Given the description of an element on the screen output the (x, y) to click on. 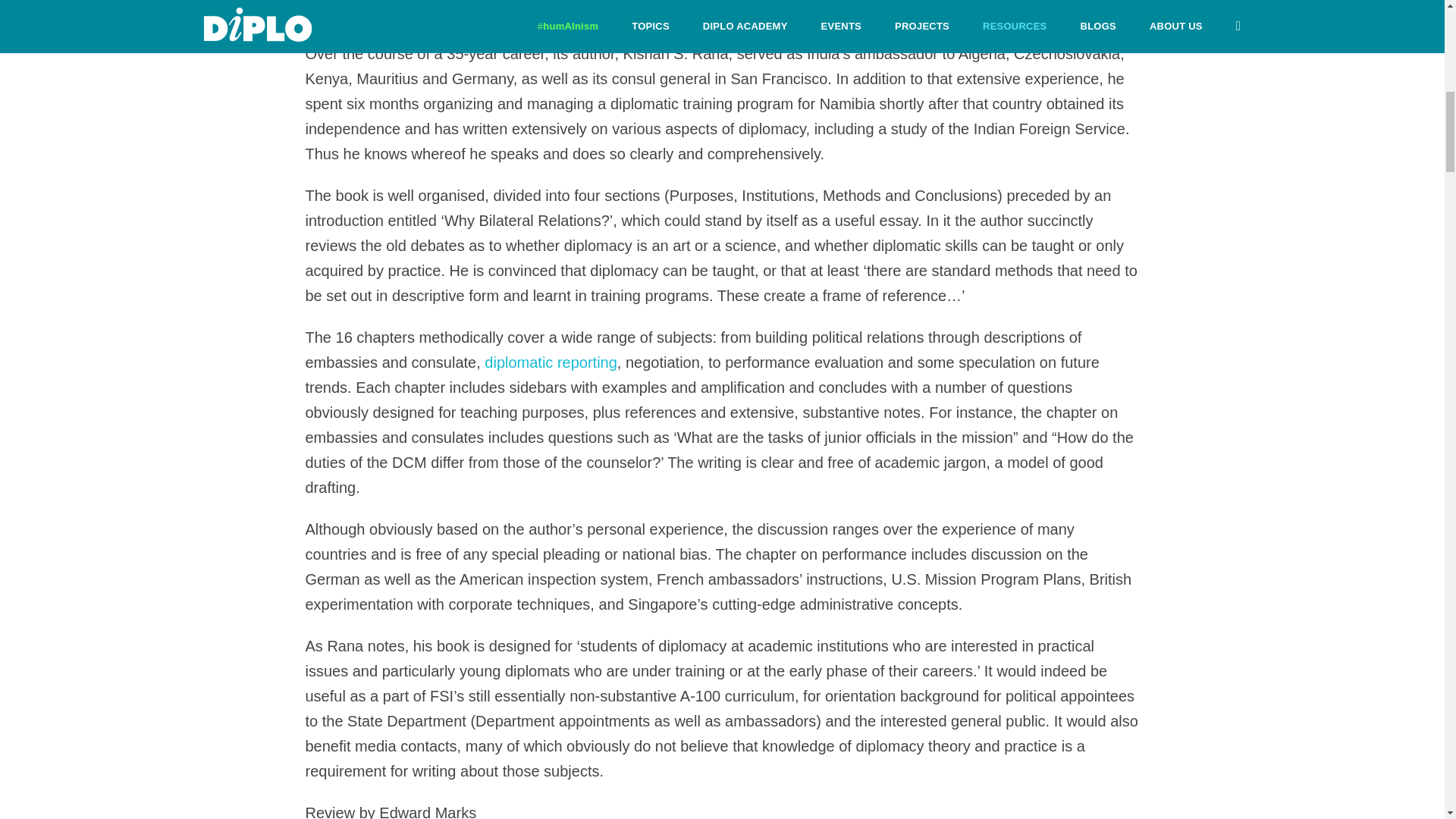
diplomatic reporting (550, 362)
